Given the description of an element on the screen output the (x, y) to click on. 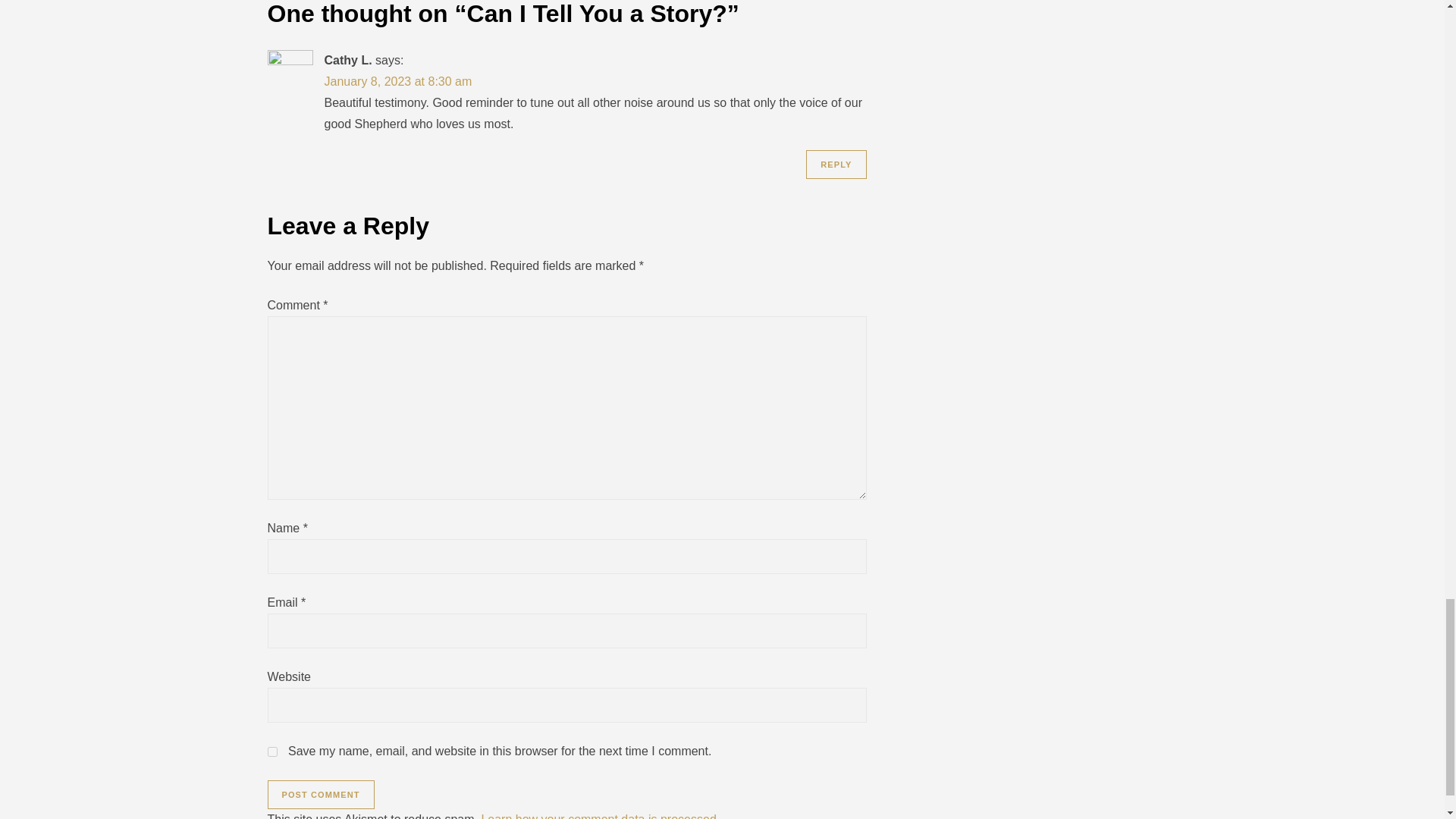
REPLY (836, 164)
January 8, 2023 at 8:30 am (397, 81)
Post Comment (320, 794)
Post Comment (320, 794)
yes (271, 751)
Learn how your comment data is processed (598, 816)
